Given the description of an element on the screen output the (x, y) to click on. 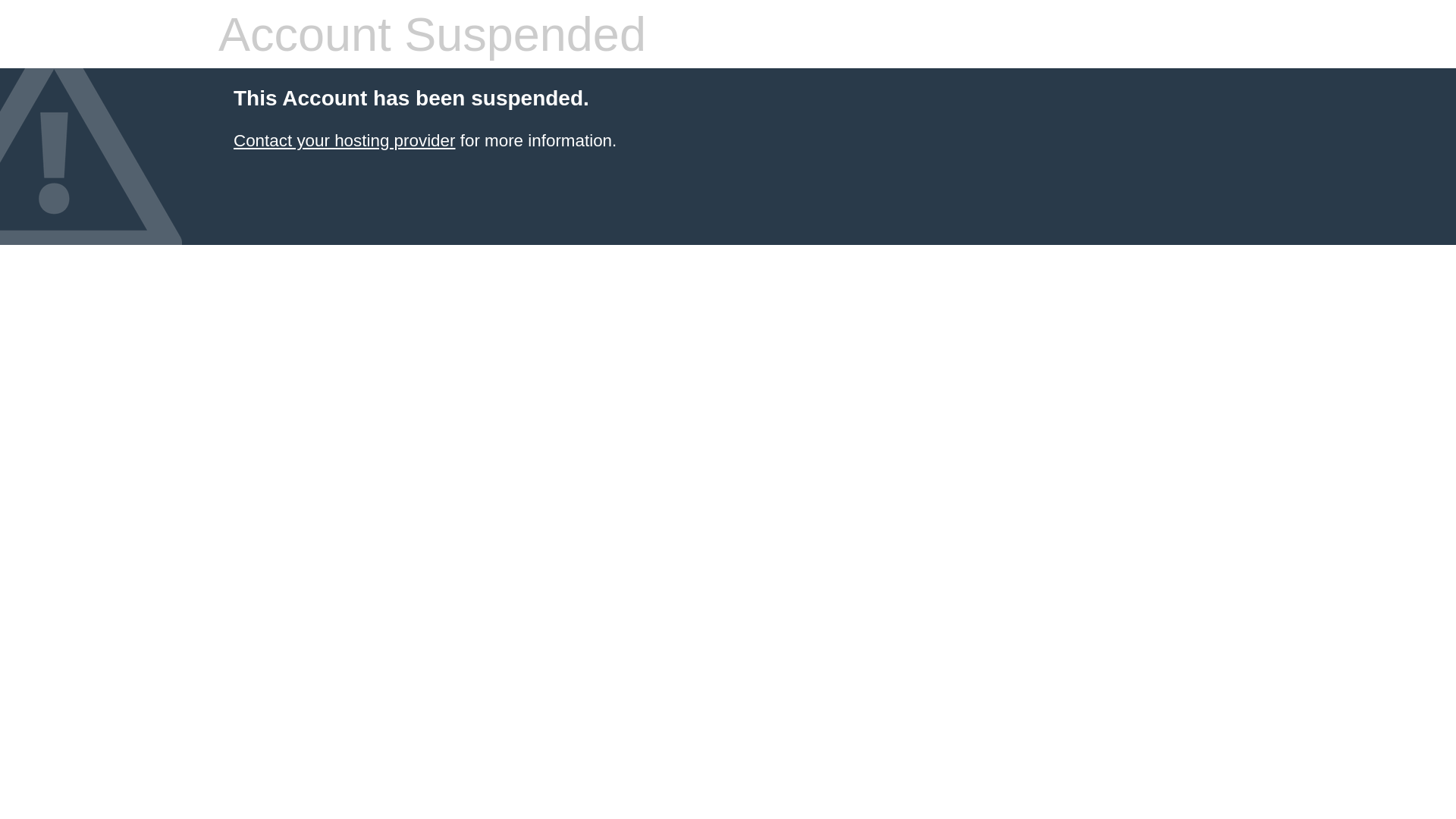
Contact your hosting provider Element type: text (344, 140)
